Given the description of an element on the screen output the (x, y) to click on. 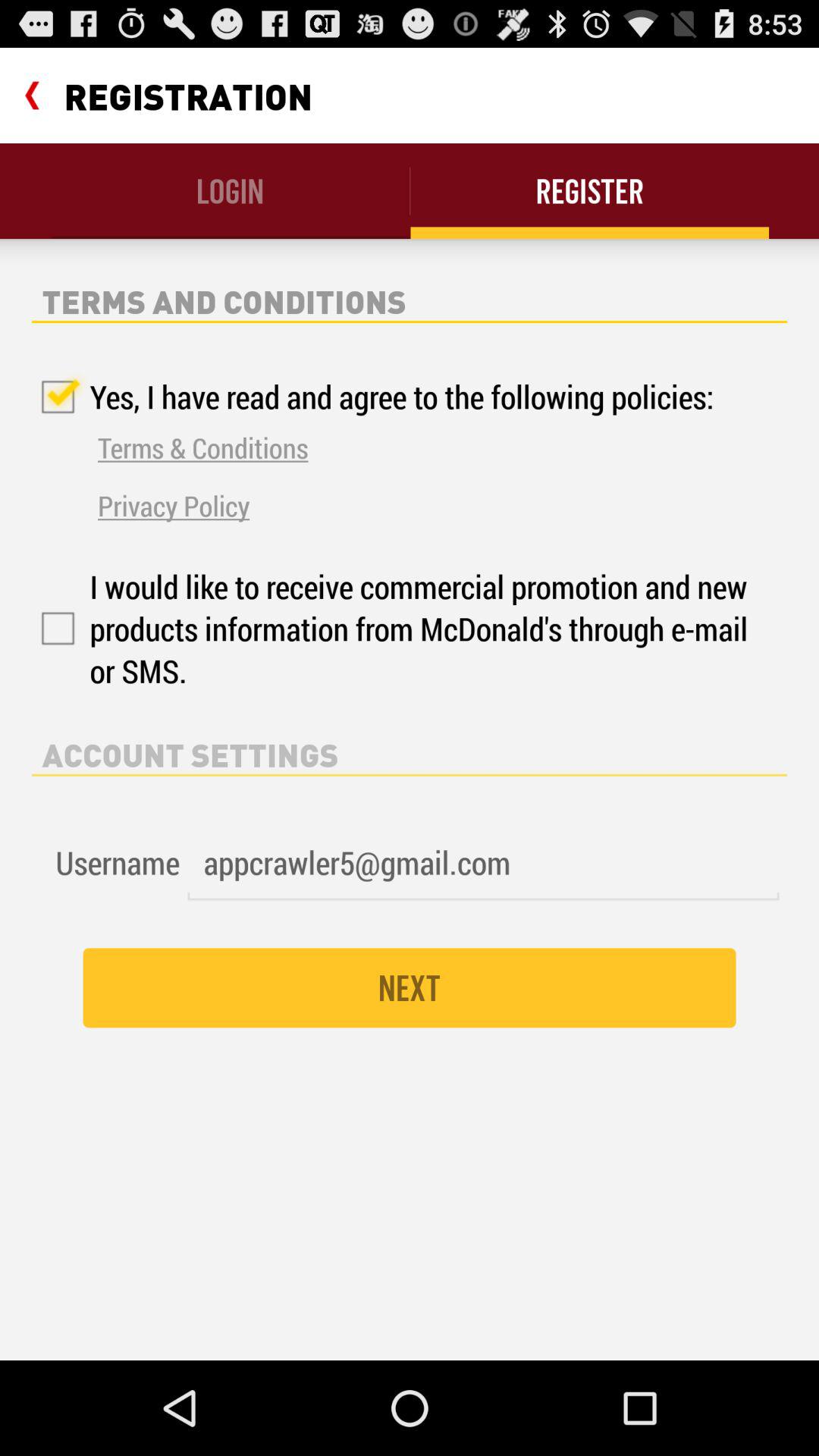
scroll until privacy policy item (173, 505)
